Given the description of an element on the screen output the (x, y) to click on. 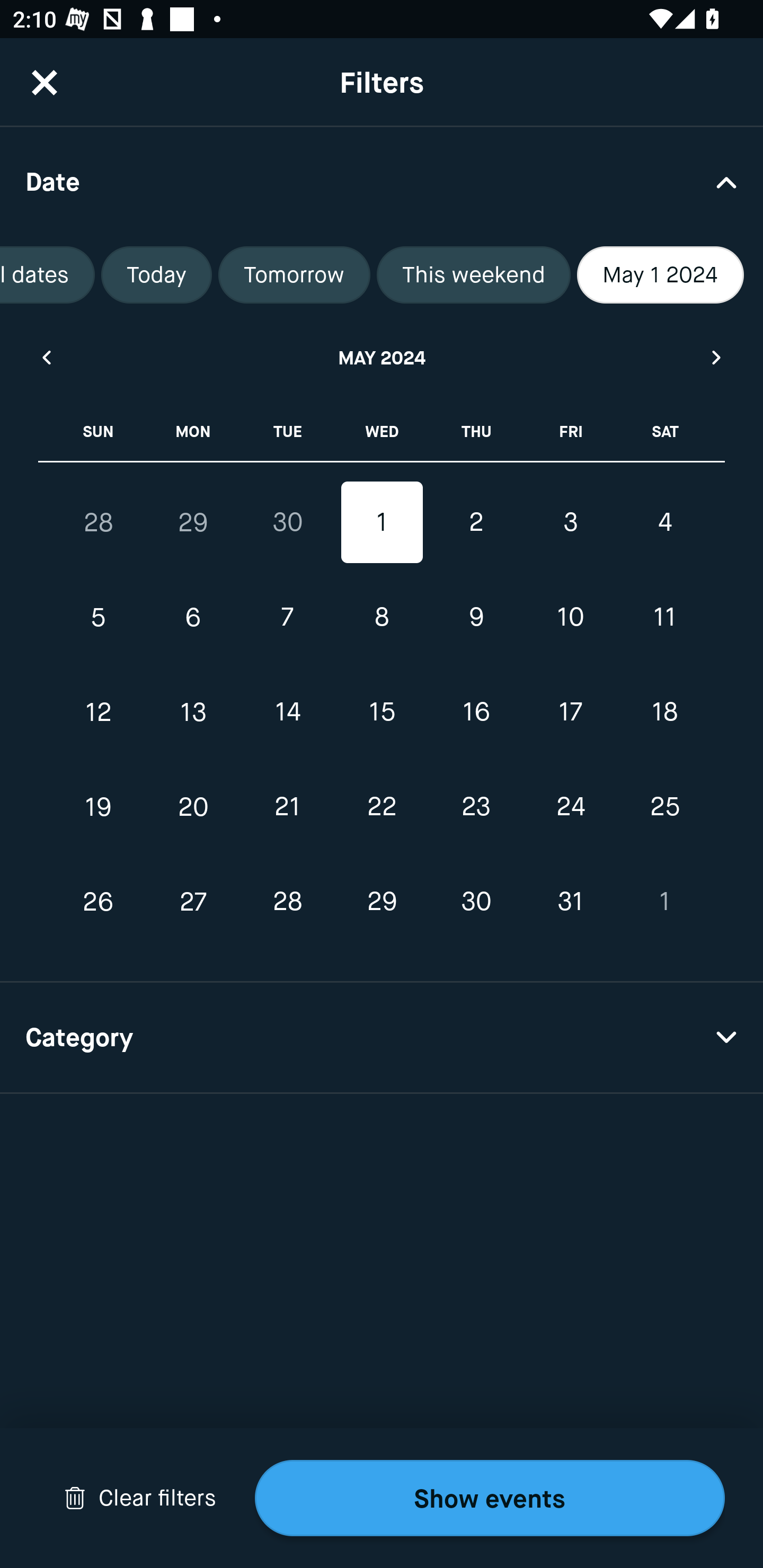
CloseButton (44, 82)
Date Drop Down Arrow (381, 181)
All dates (47, 274)
Today (156, 274)
Tomorrow (294, 274)
This weekend (473, 274)
May 1 2024 (659, 274)
Previous (45, 357)
Next (717, 357)
28 (98, 522)
29 (192, 522)
30 (287, 522)
1 (381, 522)
2 (475, 522)
3 (570, 522)
4 (664, 522)
5 (98, 617)
6 (192, 617)
7 (287, 617)
8 (381, 617)
9 (475, 617)
10 (570, 617)
11 (664, 617)
12 (98, 711)
13 (192, 711)
14 (287, 711)
15 (381, 711)
16 (475, 711)
17 (570, 711)
18 (664, 711)
19 (98, 806)
20 (192, 806)
21 (287, 806)
22 (381, 806)
23 (475, 806)
24 (570, 806)
25 (664, 806)
26 (98, 901)
27 (192, 901)
28 (287, 901)
29 (381, 901)
30 (475, 901)
31 (570, 901)
1 (664, 901)
Category Drop Down Arrow (381, 1038)
Drop Down Arrow Clear filters (139, 1497)
Show events (489, 1497)
